Given the description of an element on the screen output the (x, y) to click on. 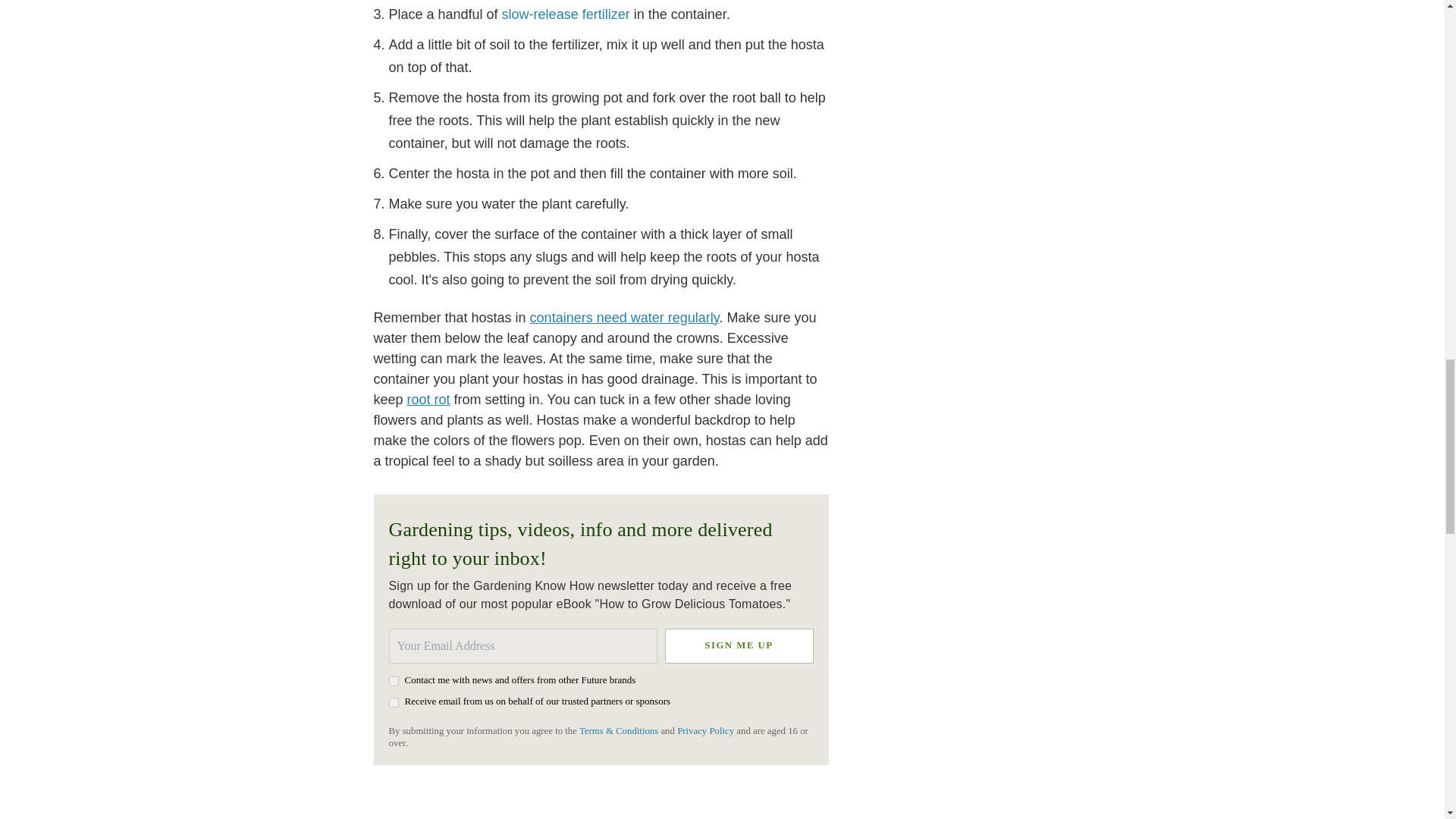
on (392, 681)
Sign me up (737, 645)
on (392, 702)
